Given the description of an element on the screen output the (x, y) to click on. 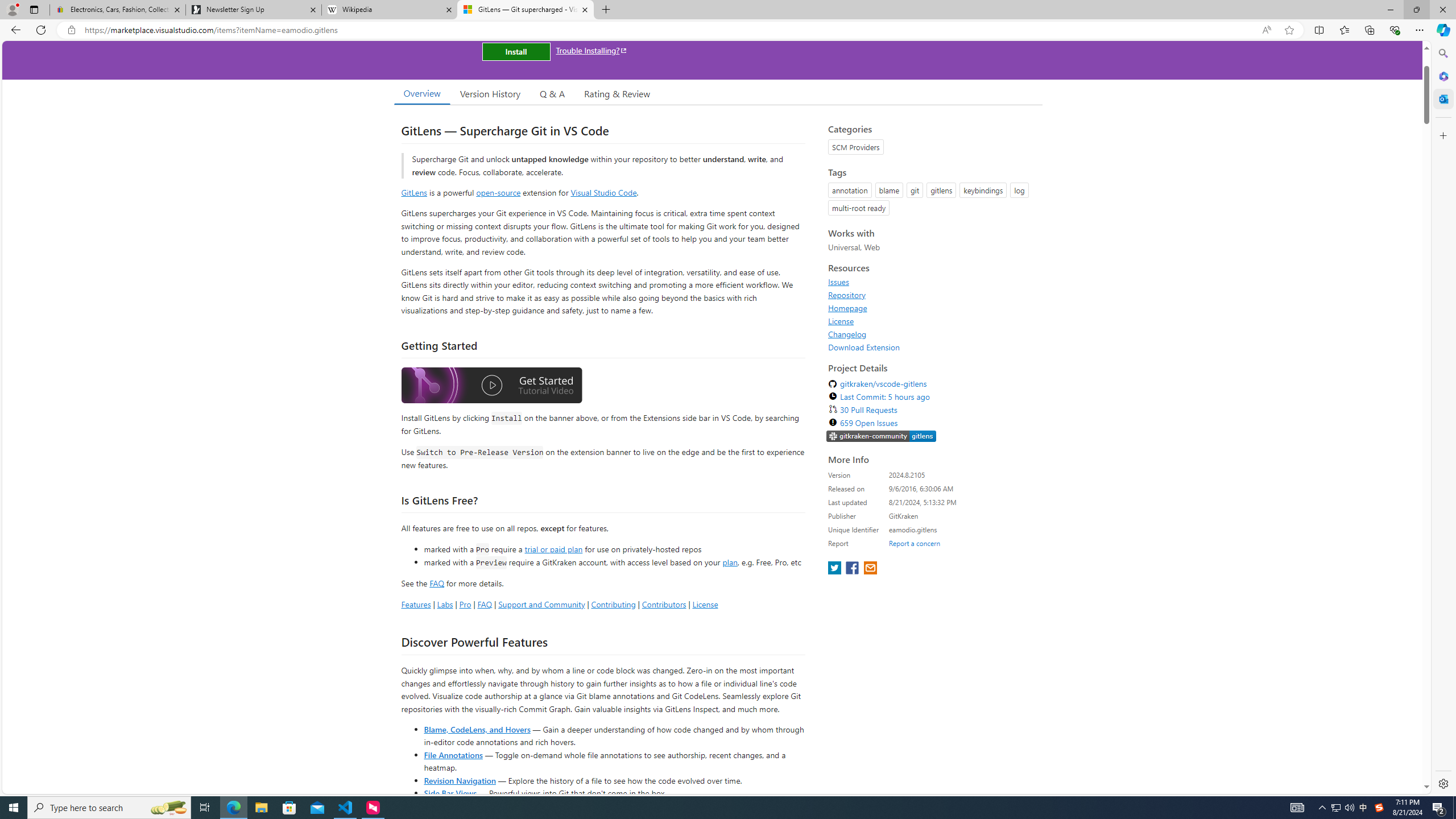
Contributing (613, 603)
Newsletter Sign Up (253, 9)
Download Extension (931, 346)
Changelog (847, 333)
Changelog (931, 333)
Features (415, 603)
Issues (838, 281)
Issues (931, 281)
Blame, CodeLens, and Hovers (476, 728)
Report a concern (914, 542)
Visual Studio Code (603, 192)
Contributors (663, 603)
